Given the description of an element on the screen output the (x, y) to click on. 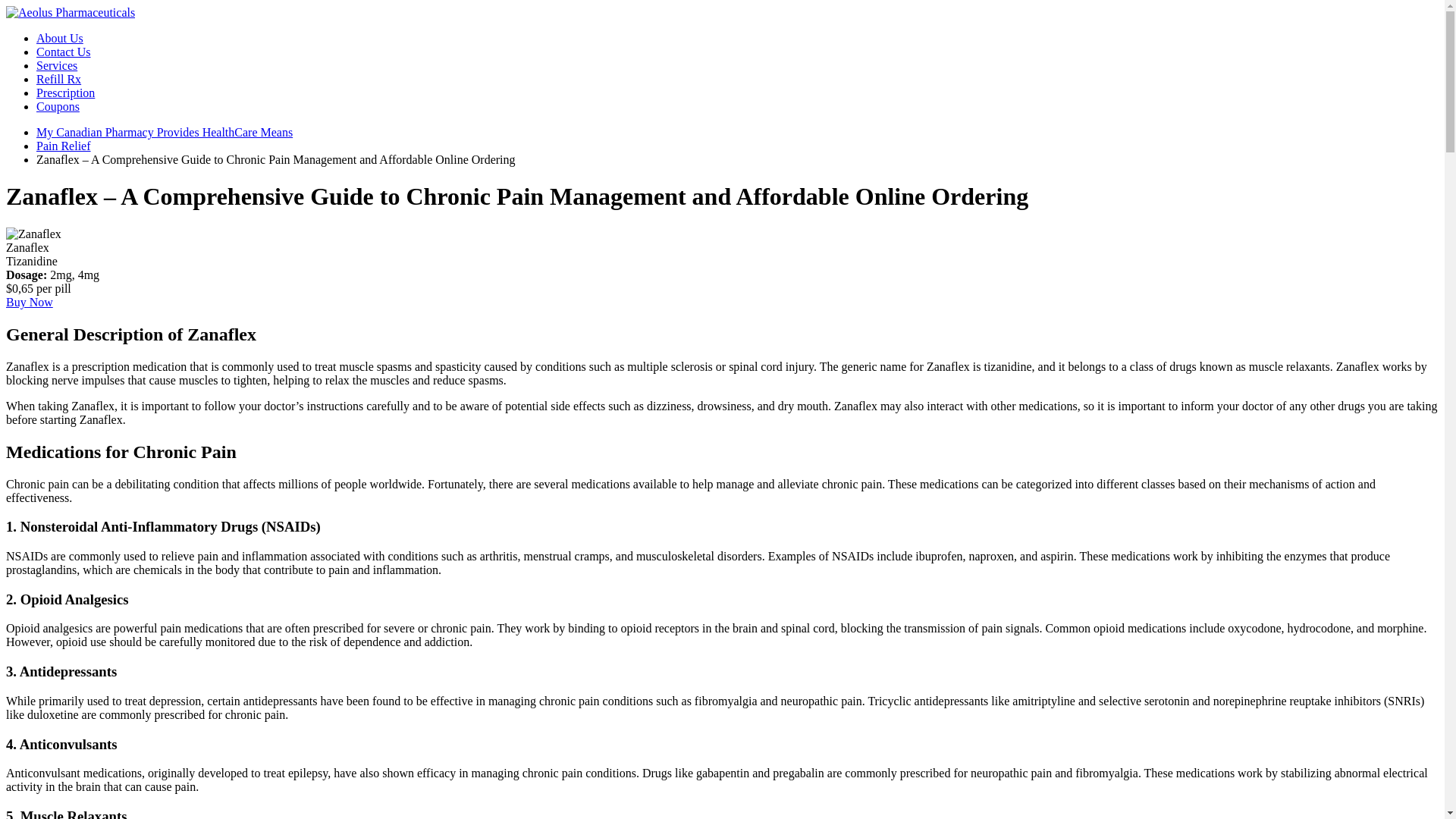
My Canadian Pharmacy Provides HealthCare Means (164, 132)
Services (56, 65)
My Canadian Pharmacy Provides HealthCare Means (70, 11)
Buy Now (28, 301)
Go to My Canadian Pharmacy Provides HealthCare Means. (164, 132)
Coupons (58, 106)
Go to the Pain Relief category archives. (63, 145)
Pain Relief (63, 145)
About Us (59, 38)
Contact Us (63, 51)
Prescription (65, 92)
Refill Rx (58, 78)
